Given the description of an element on the screen output the (x, y) to click on. 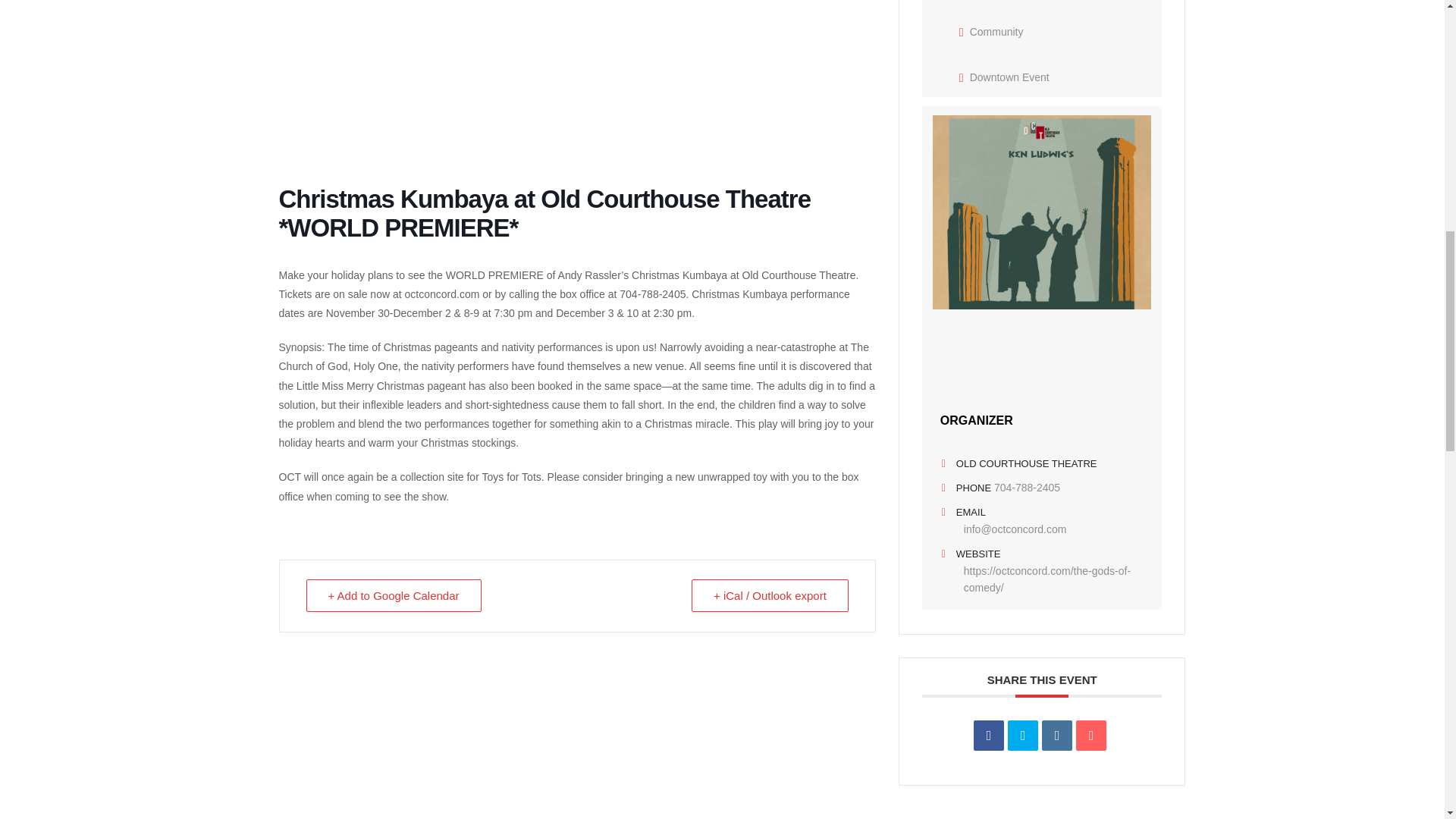
Linkedin (1056, 735)
Share on Facebook (989, 735)
Tweet (1022, 735)
Email (1090, 735)
